Given the description of an element on the screen output the (x, y) to click on. 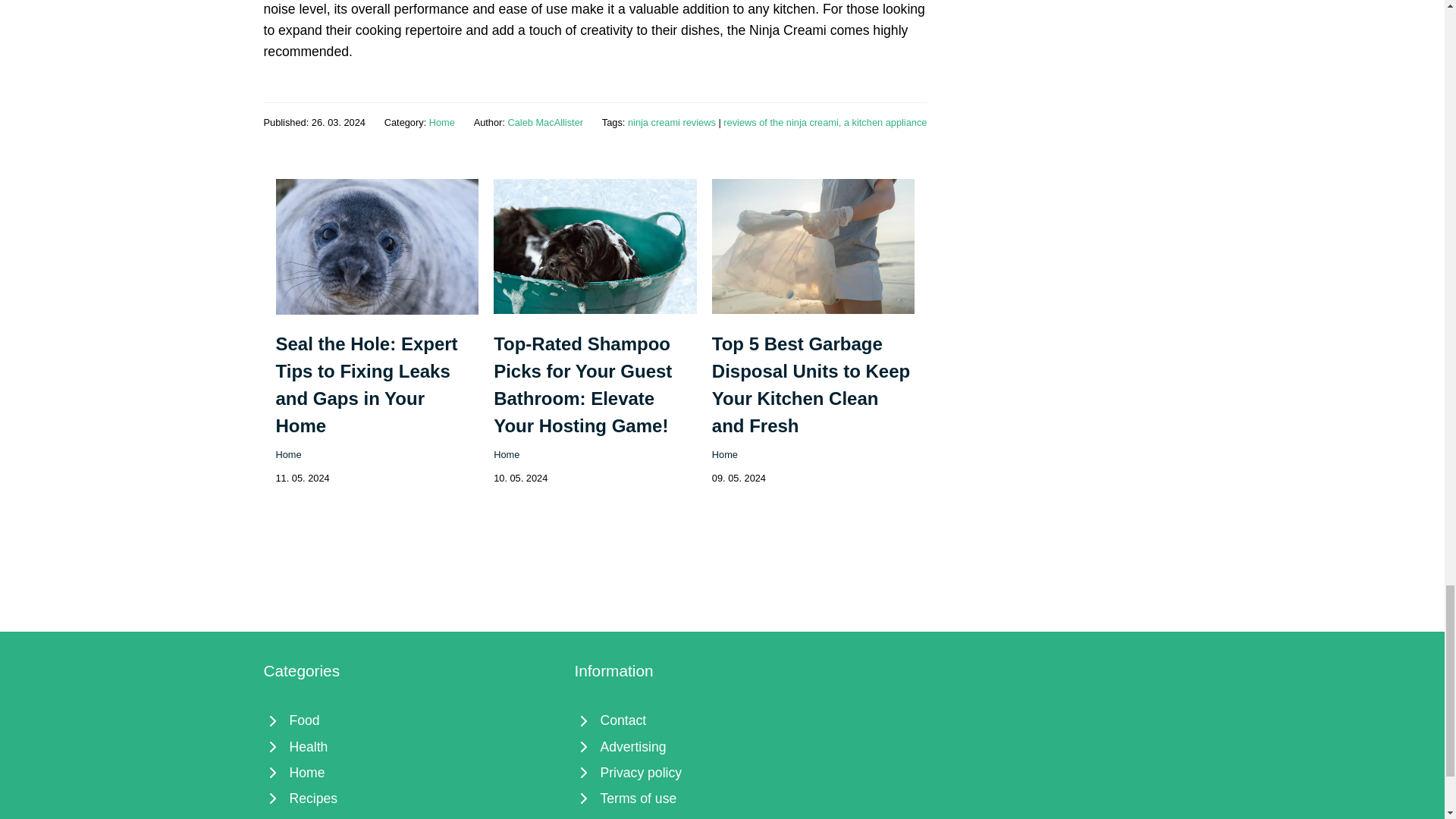
Home (724, 454)
Recipes (411, 798)
Contact (722, 720)
Home (506, 454)
Home (441, 122)
Terms of use (722, 798)
Home (288, 454)
Privacy policy (722, 772)
Caleb MacAllister (544, 122)
